Given the description of an element on the screen output the (x, y) to click on. 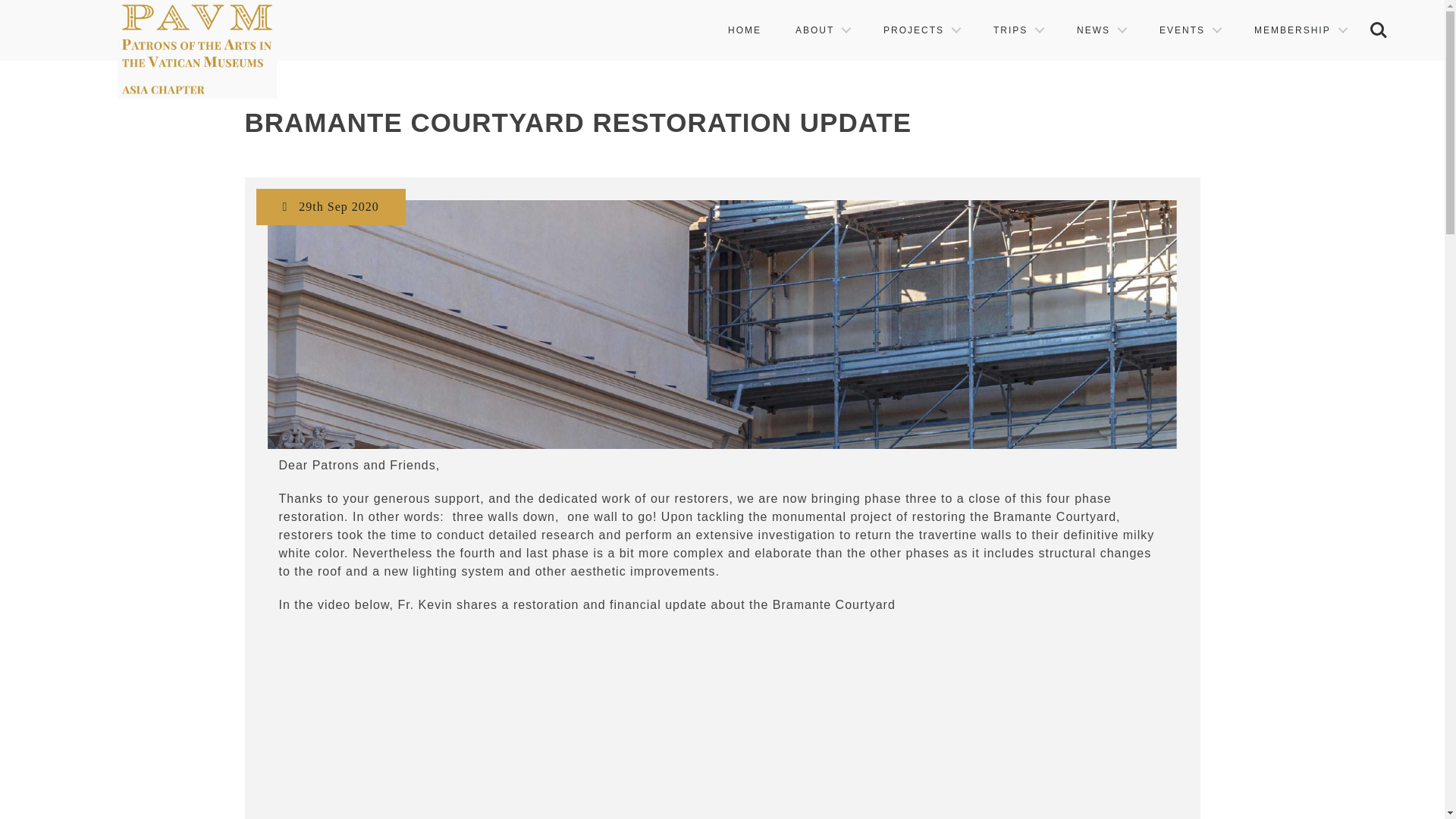
NEWS (1100, 30)
News (1100, 30)
Projects (921, 30)
EVENTS (1189, 30)
Trips (1017, 30)
ABOUT (822, 30)
PROJECTS (921, 30)
MEMBERSHIP (1300, 30)
About (822, 30)
TRIPS (1017, 30)
Events (1189, 30)
